Given the description of an element on the screen output the (x, y) to click on. 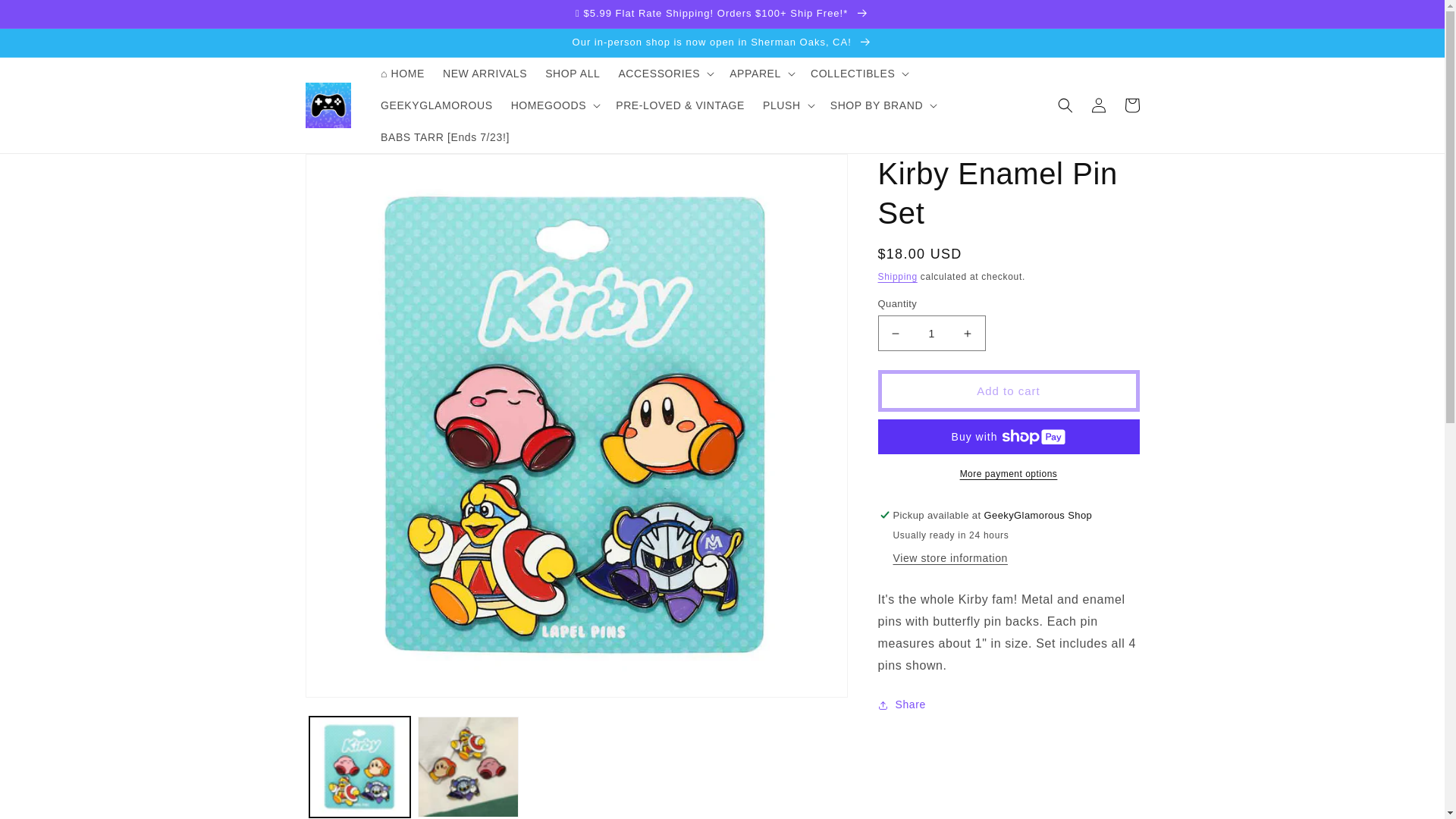
Skip to content (48, 20)
1 (931, 333)
